Given the description of an element on the screen output the (x, y) to click on. 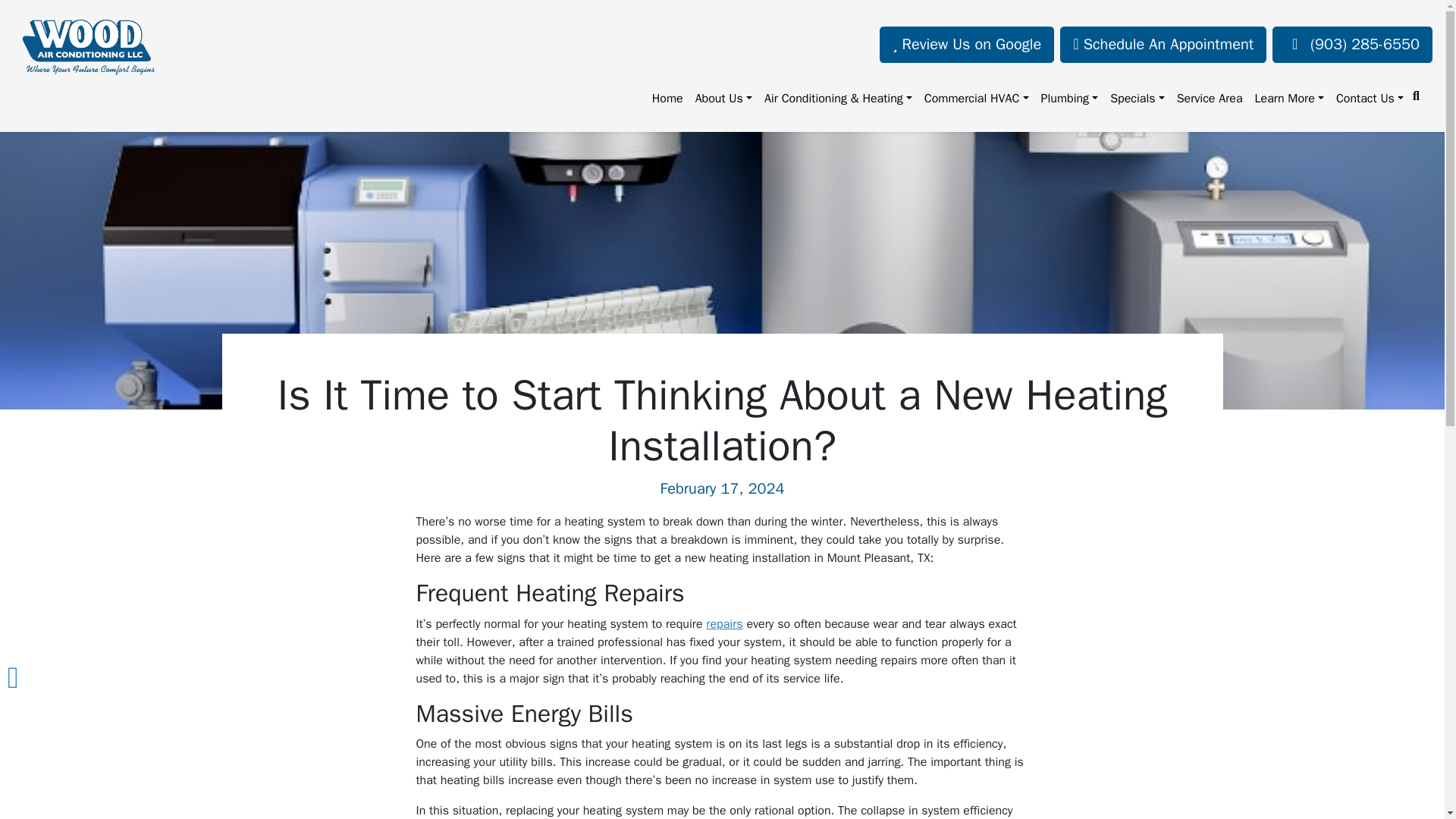
Schedule An Appointment (1162, 44)
About Us (723, 98)
Review Us on Google (966, 44)
Home (667, 98)
Specials (1136, 98)
Commercial HVAC (976, 98)
Plumbing (1068, 98)
